Given the description of an element on the screen output the (x, y) to click on. 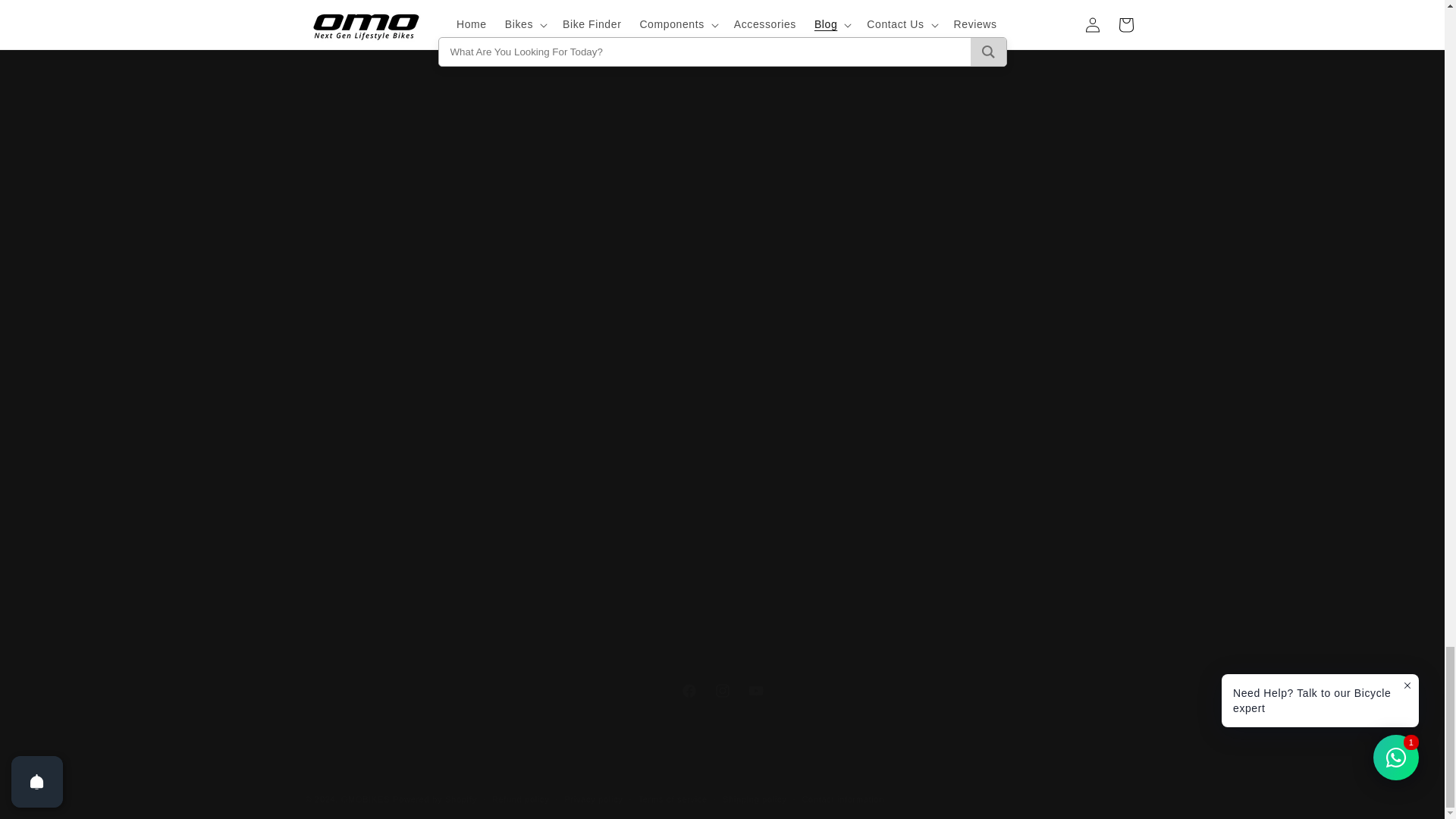
Omo bikes customer Care Email Id (410, 253)
Omobikes customer complaint ticket (375, 297)
Omobikes Customer Support No For complaint or Queries  (721, 690)
